Given the description of an element on the screen output the (x, y) to click on. 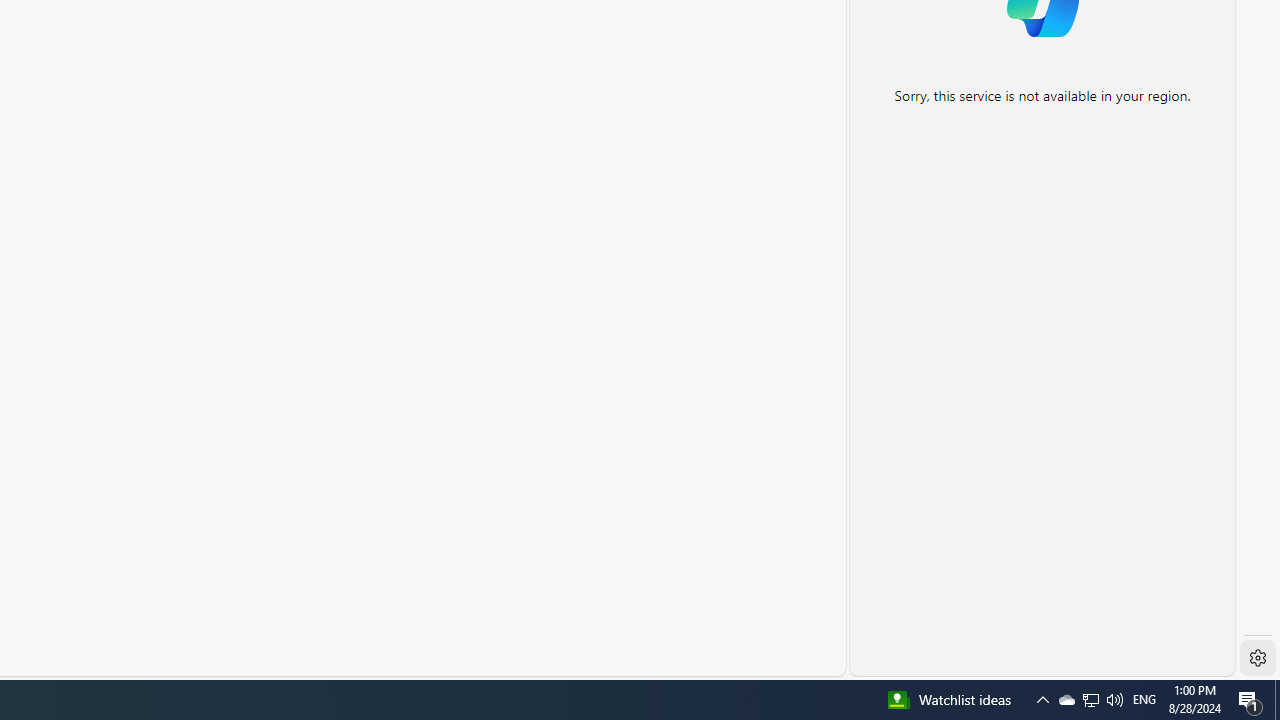
Settings (1258, 658)
